Given the description of an element on the screen output the (x, y) to click on. 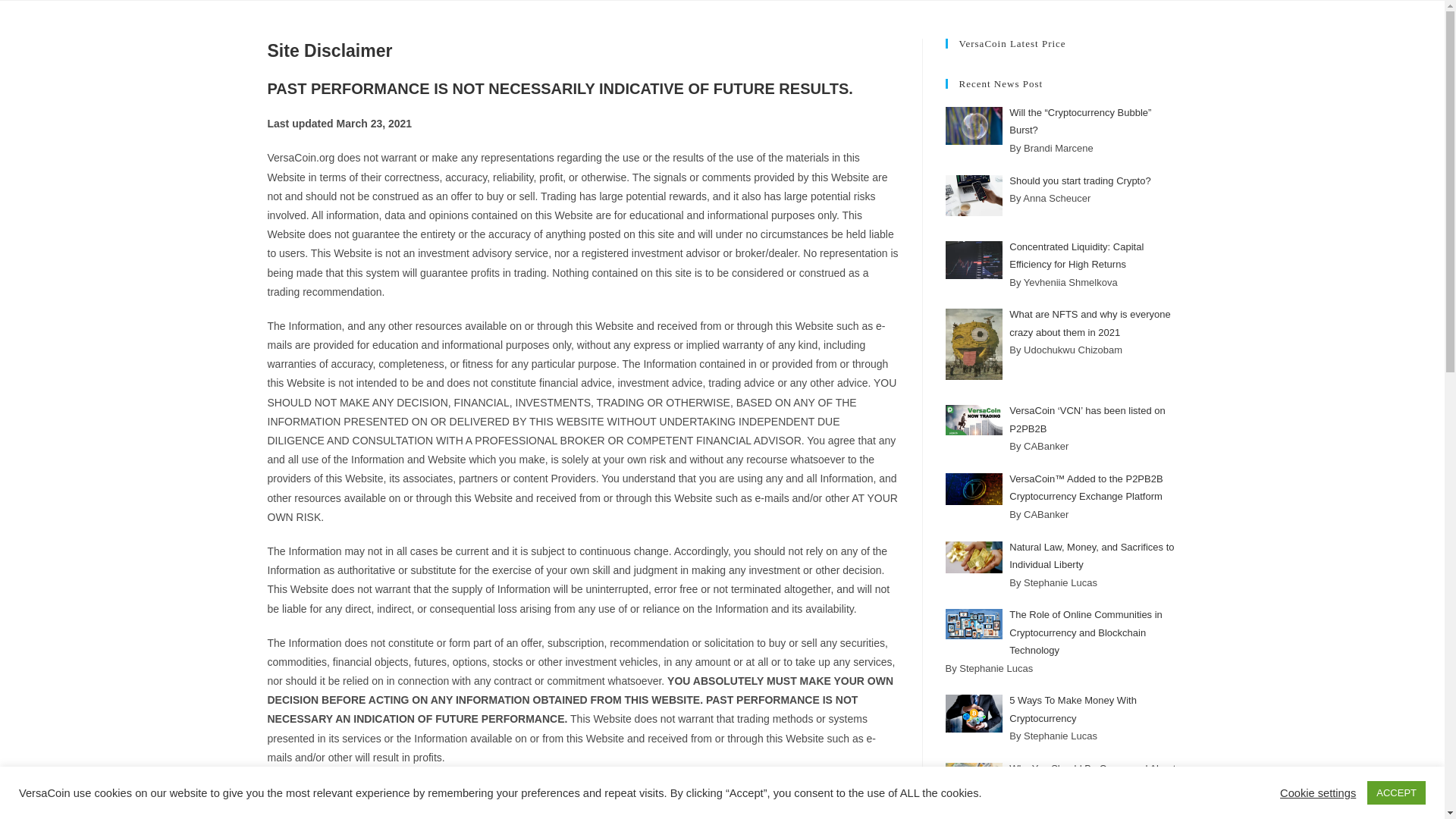
Should you start trading Crypto? (1079, 180)
Why You Should Be Concerned About the Fiat Money System (1091, 776)
What are NFTS and why is everyone crazy about them in 2021 (1089, 322)
5 Ways To Make Money With Cryptocurrency (1073, 708)
Natural Law, Money, and Sacrifices to Individual Liberty (1091, 555)
ACCEPT (1396, 792)
Cookie settings (1317, 792)
Concentrated Liquidity: Capital Efficiency for High Returns (1075, 255)
